Given the description of an element on the screen output the (x, y) to click on. 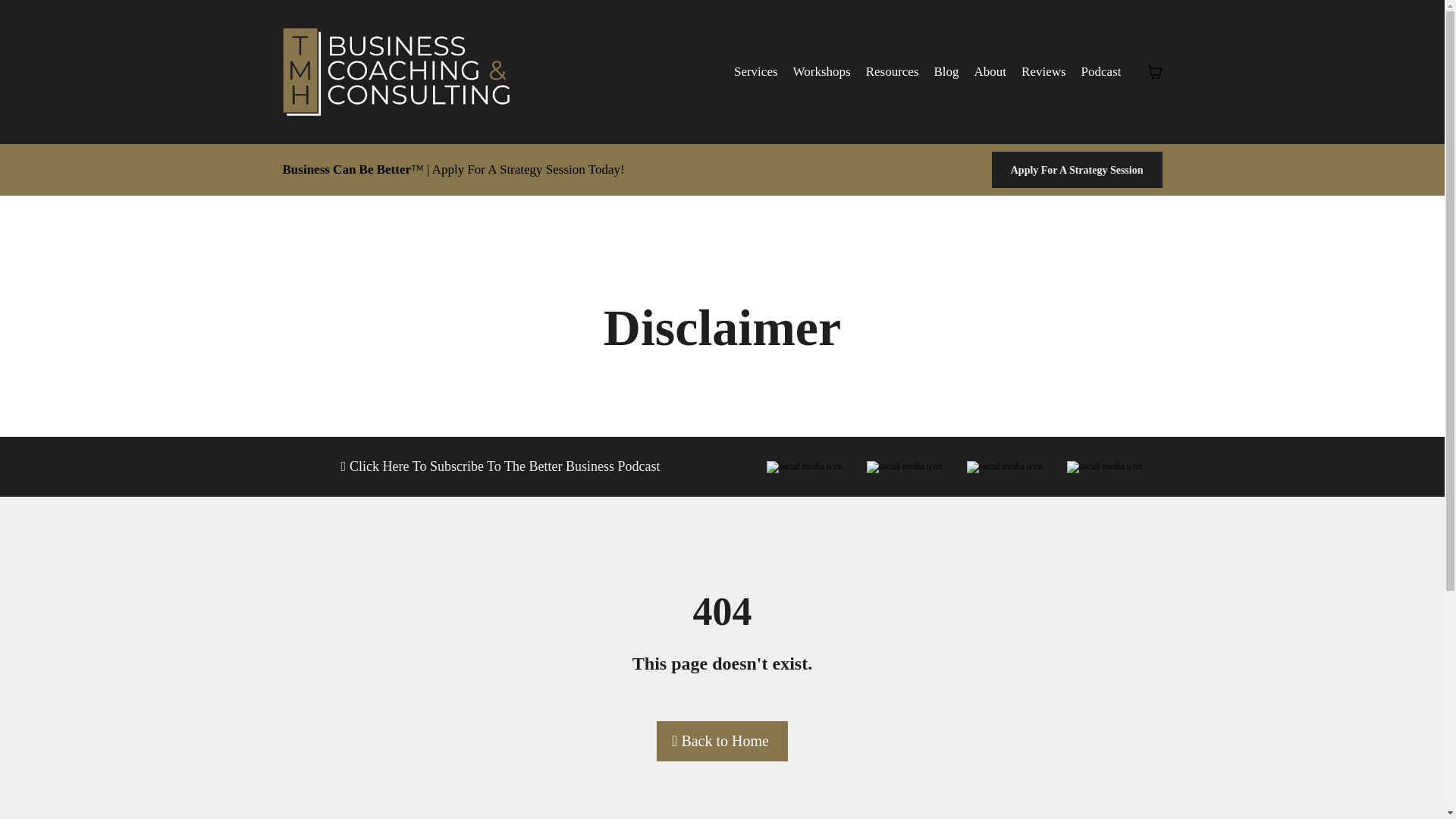
Podcast (1101, 71)
About (990, 71)
Blog (946, 71)
Click Here To Subscribe To The Better Business Podcast (504, 466)
Resources (892, 71)
Services (756, 71)
Back to Home (721, 741)
Workshops (822, 71)
Reviews (1043, 71)
Apply For A Strategy Session (1076, 169)
